Given the description of an element on the screen output the (x, y) to click on. 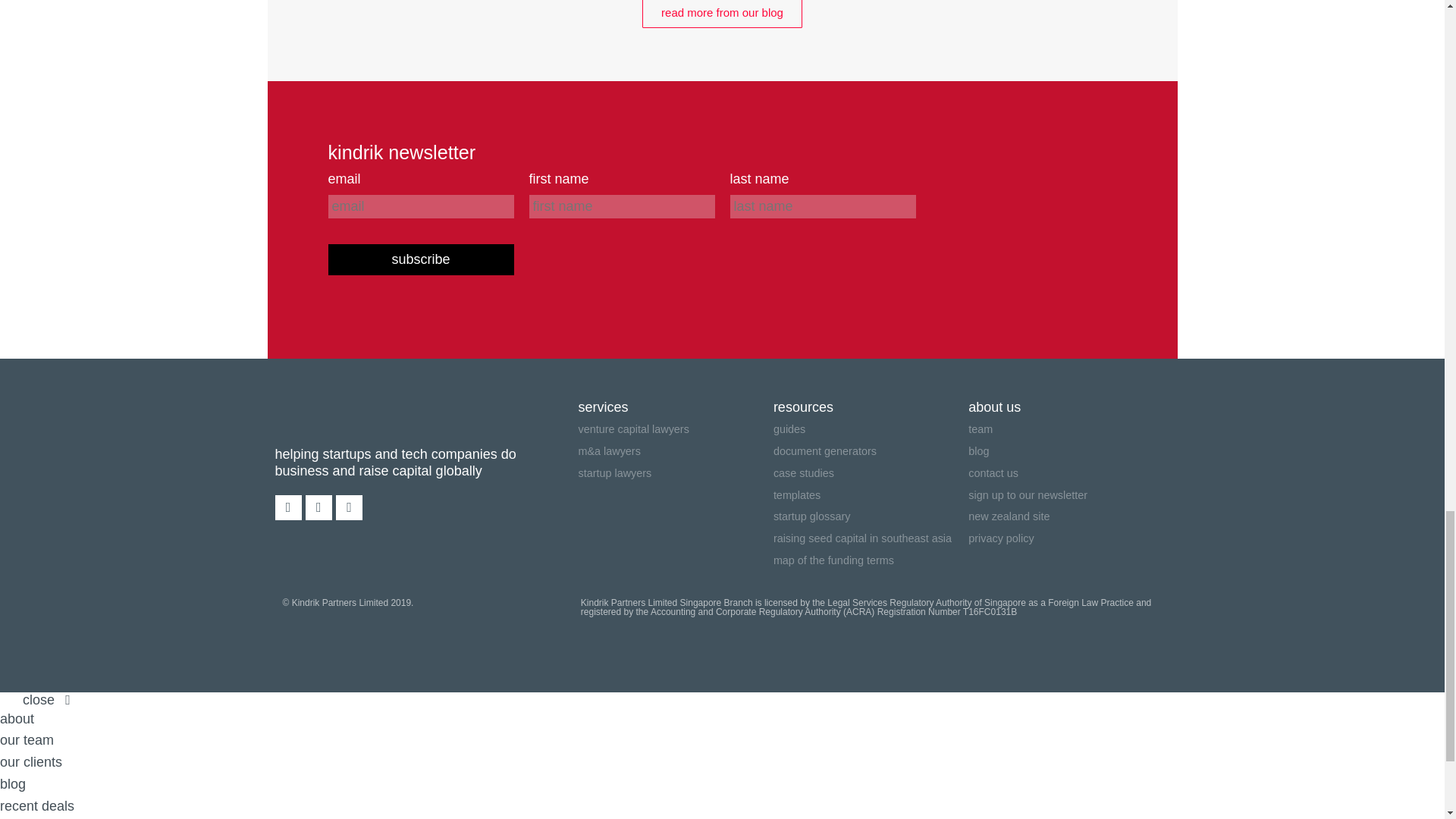
Subscribe (420, 259)
startup lawyers (675, 473)
guides (870, 429)
Subscribe (420, 259)
startup glossary (870, 516)
case studies (870, 473)
raising seed capital in southeast asia (870, 538)
read more from our blog (722, 13)
resources (870, 407)
kindrik (335, 416)
